Given the description of an element on the screen output the (x, y) to click on. 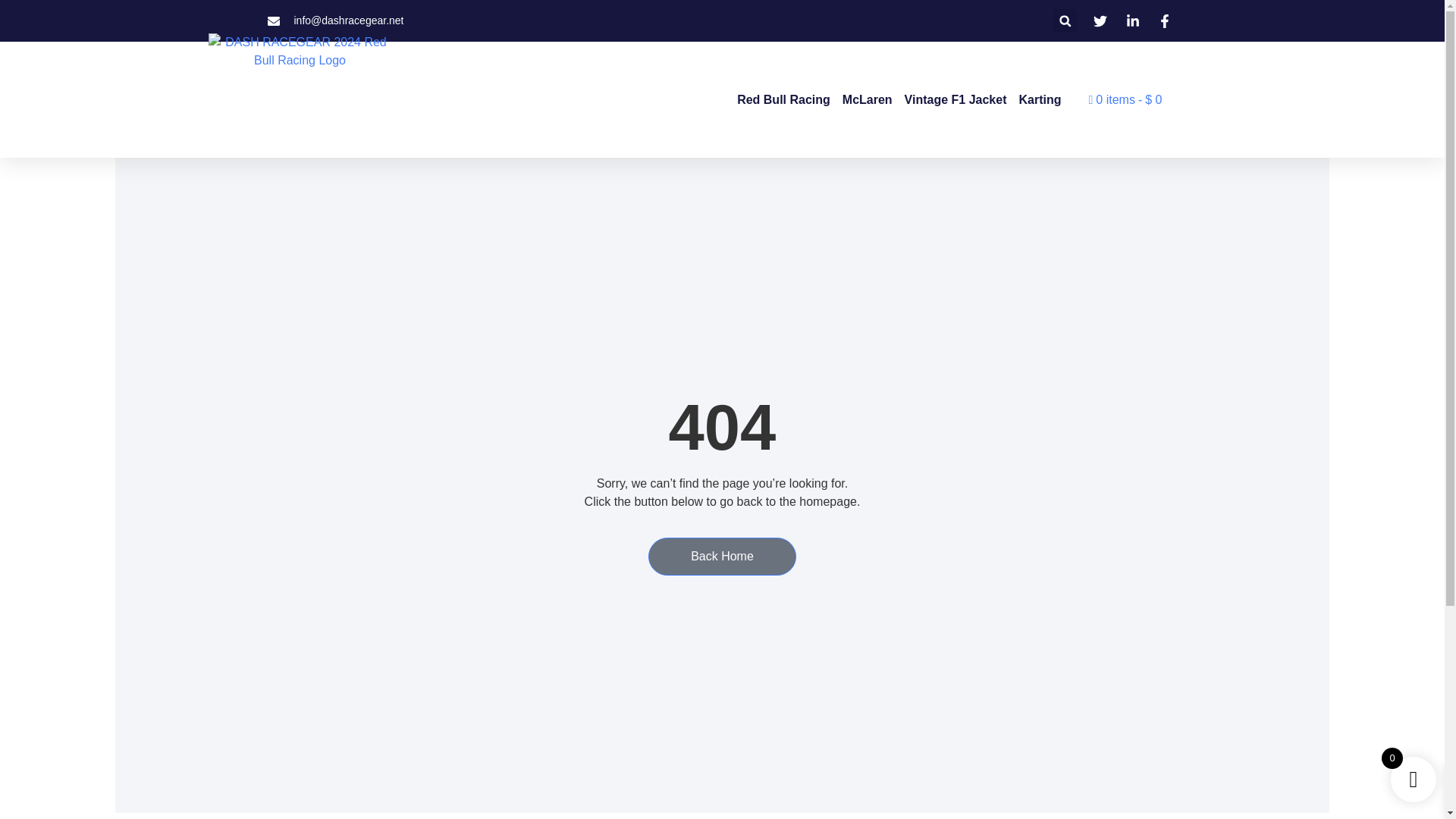
McLaren (867, 99)
Back Home (721, 556)
Start shopping (1125, 99)
Vintage F1 Jacket (955, 99)
Red Bull Racing (782, 99)
Karting (1040, 99)
